Given the description of an element on the screen output the (x, y) to click on. 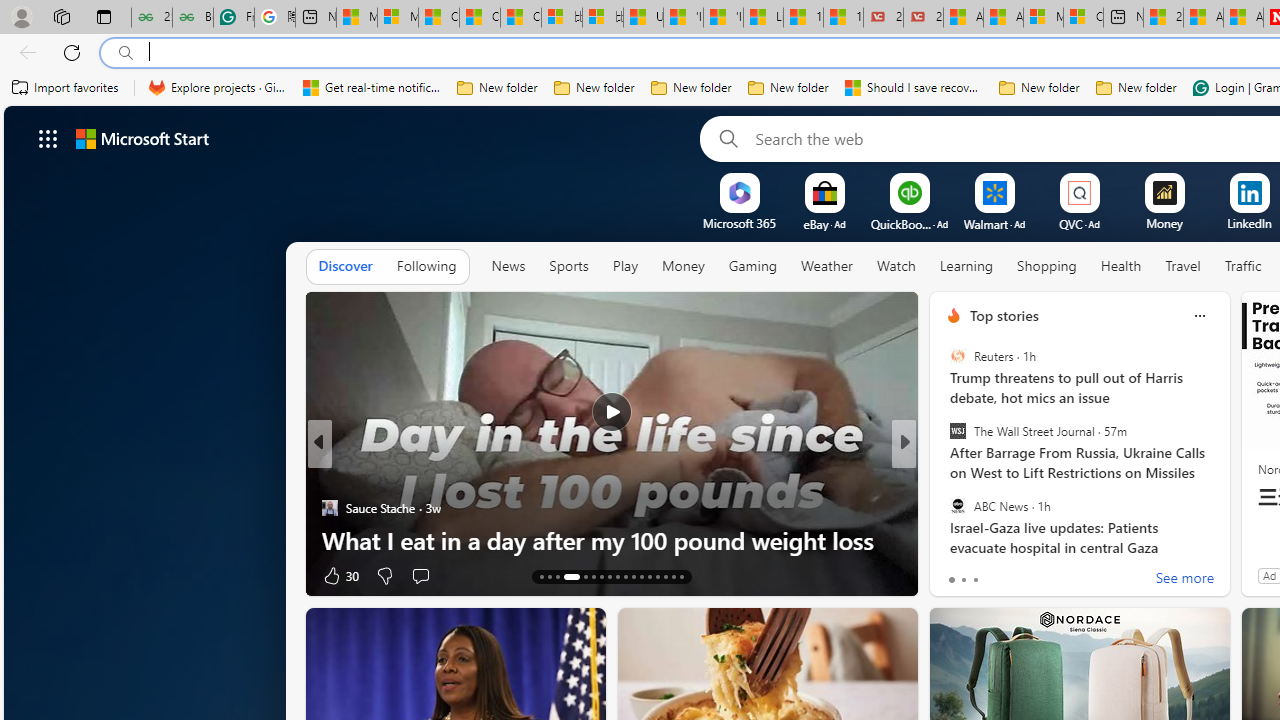
Shopping (1047, 265)
AutomationID: tab-20 (609, 576)
Ad Choice (287, 575)
View comments 6 Comment (1041, 574)
AutomationID: tab-17 (585, 576)
Lifestyle - MSN (763, 17)
275 Like (959, 574)
LinkedIn (1249, 223)
AutomationID: tab-14 (549, 576)
Free AI Writing Assistance for Students | Grammarly (233, 17)
View comments 10 Comment (1036, 575)
AutomationID: tab-29 (681, 576)
Play (625, 265)
